Given the description of an element on the screen output the (x, y) to click on. 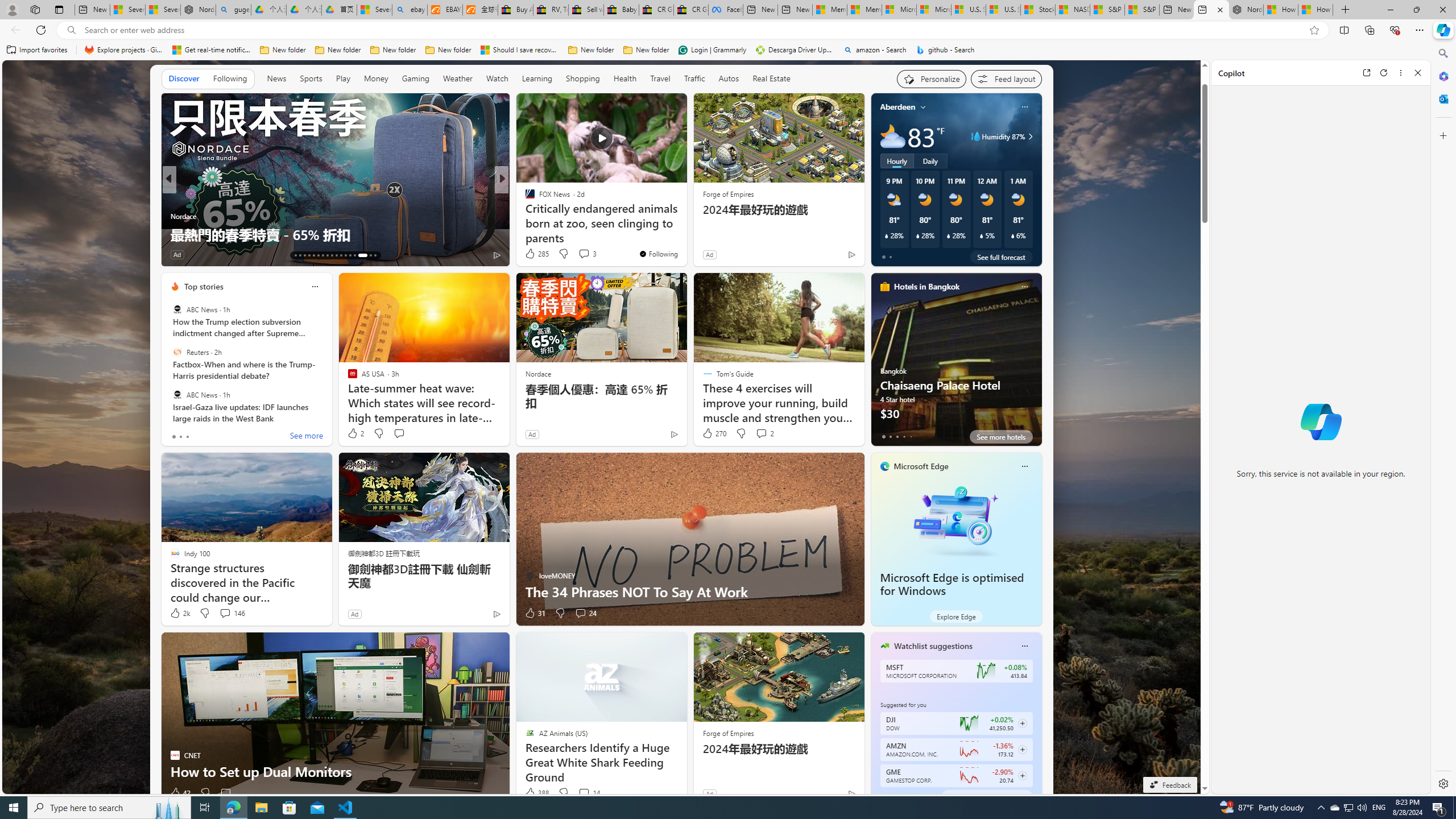
Mostly cloudy (892, 136)
2k Like (179, 612)
Traffic (694, 79)
Humidity 87% (1028, 136)
Money (375, 79)
Following (229, 78)
Real Estate (771, 78)
Class: follow-button  m (1021, 775)
Following (229, 79)
AutomationID: tab-22 (336, 255)
270 Like (713, 433)
Should I save recovered Word documents? - Microsoft Support (519, 49)
Sports (310, 79)
Forge of Empires (727, 732)
View comments 6 Comment (229, 254)
